Given the description of an element on the screen output the (x, y) to click on. 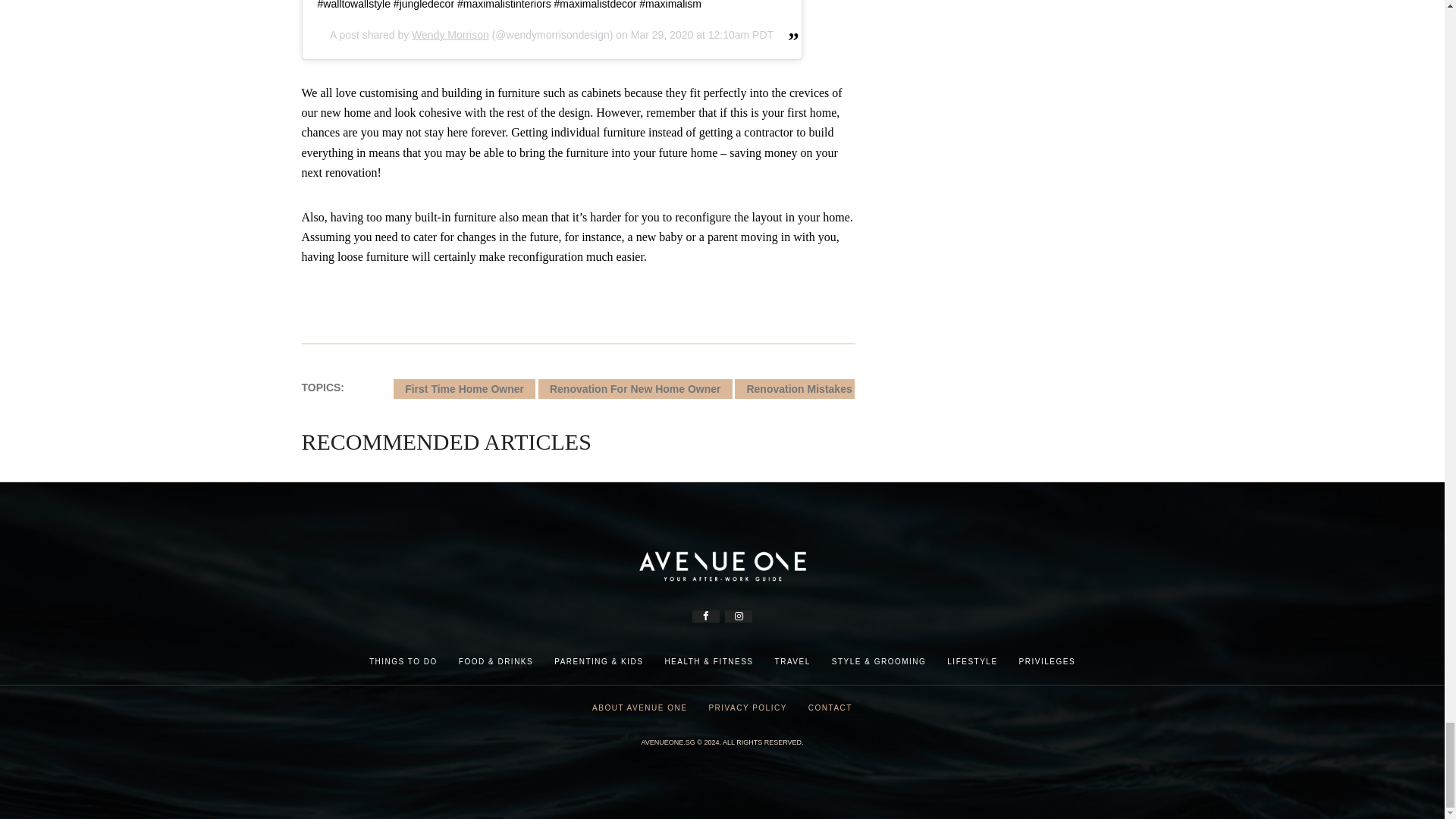
best-travel-food-fashion-home-living-website-singapore (721, 565)
